Given the description of an element on the screen output the (x, y) to click on. 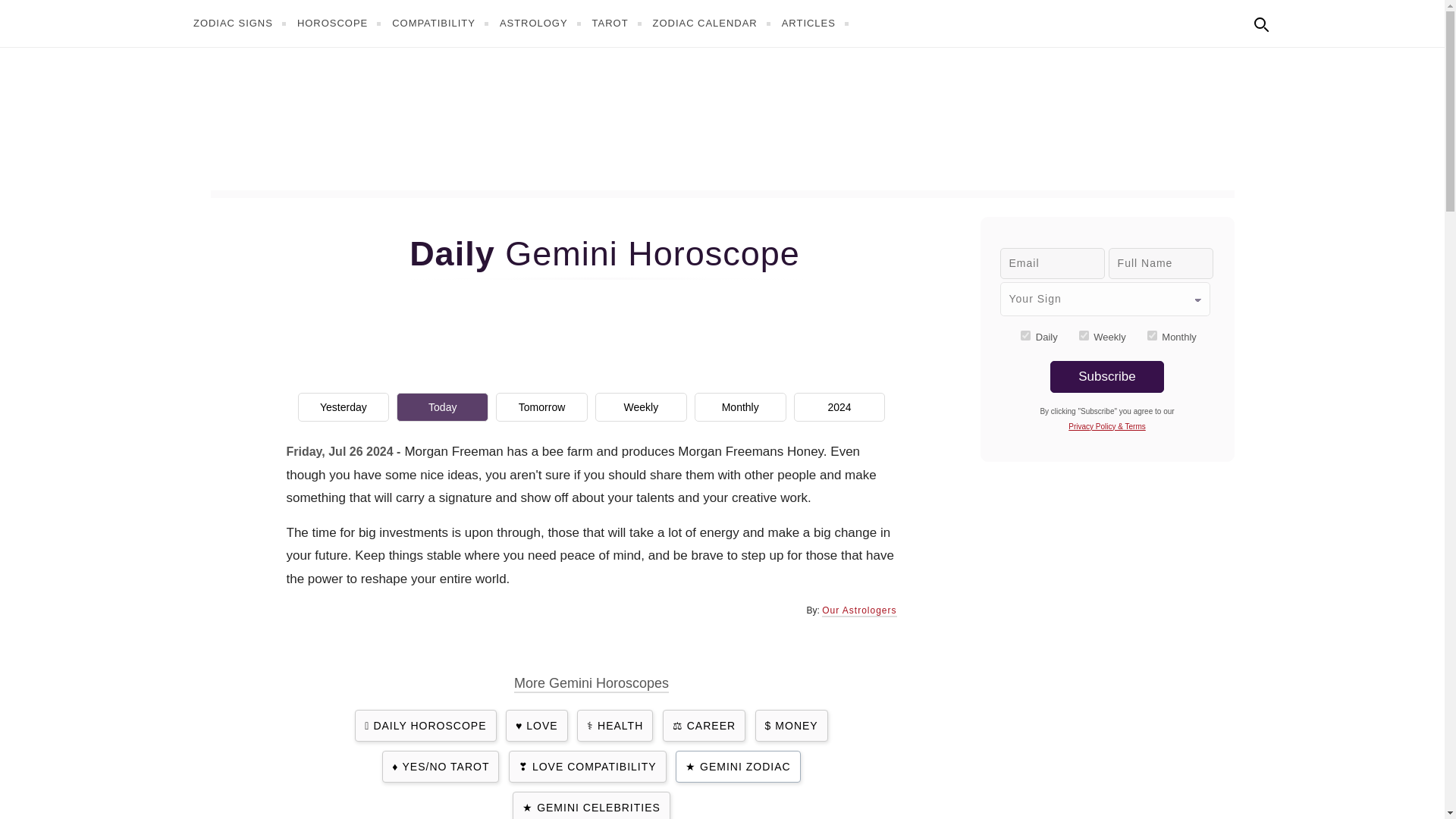
daily (1025, 335)
monthly (1152, 335)
HOROSCOPE (341, 23)
In English (1294, 21)
weekly (1083, 335)
ZODIAC SIGNS (241, 23)
